Given the description of an element on the screen output the (x, y) to click on. 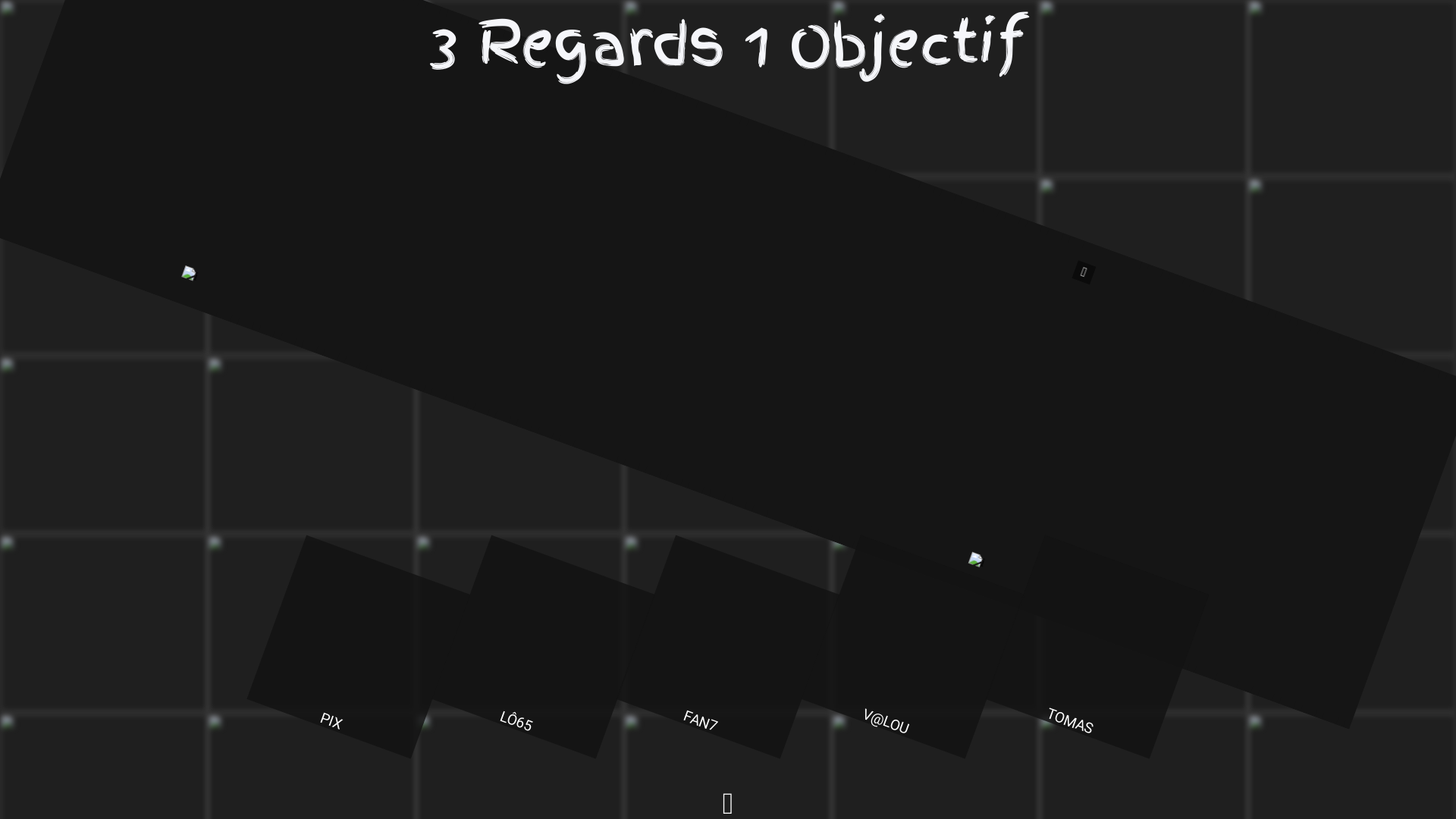
FAN7 Element type: text (703, 622)
V@LOU Element type: text (887, 622)
PIX Element type: text (334, 622)
TOMAS Element type: text (1072, 622)
